Given the description of an element on the screen output the (x, y) to click on. 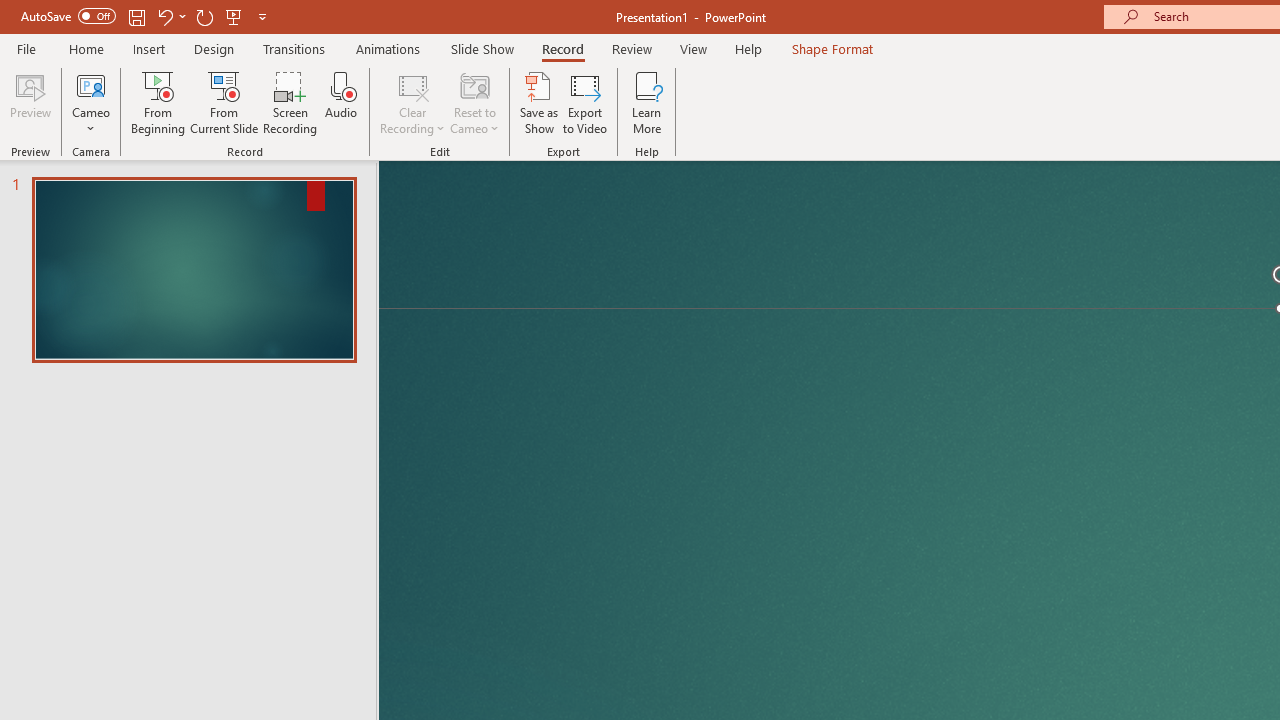
Cameo (91, 102)
Clear Recording (412, 102)
Learn More (646, 102)
